Given the description of an element on the screen output the (x, y) to click on. 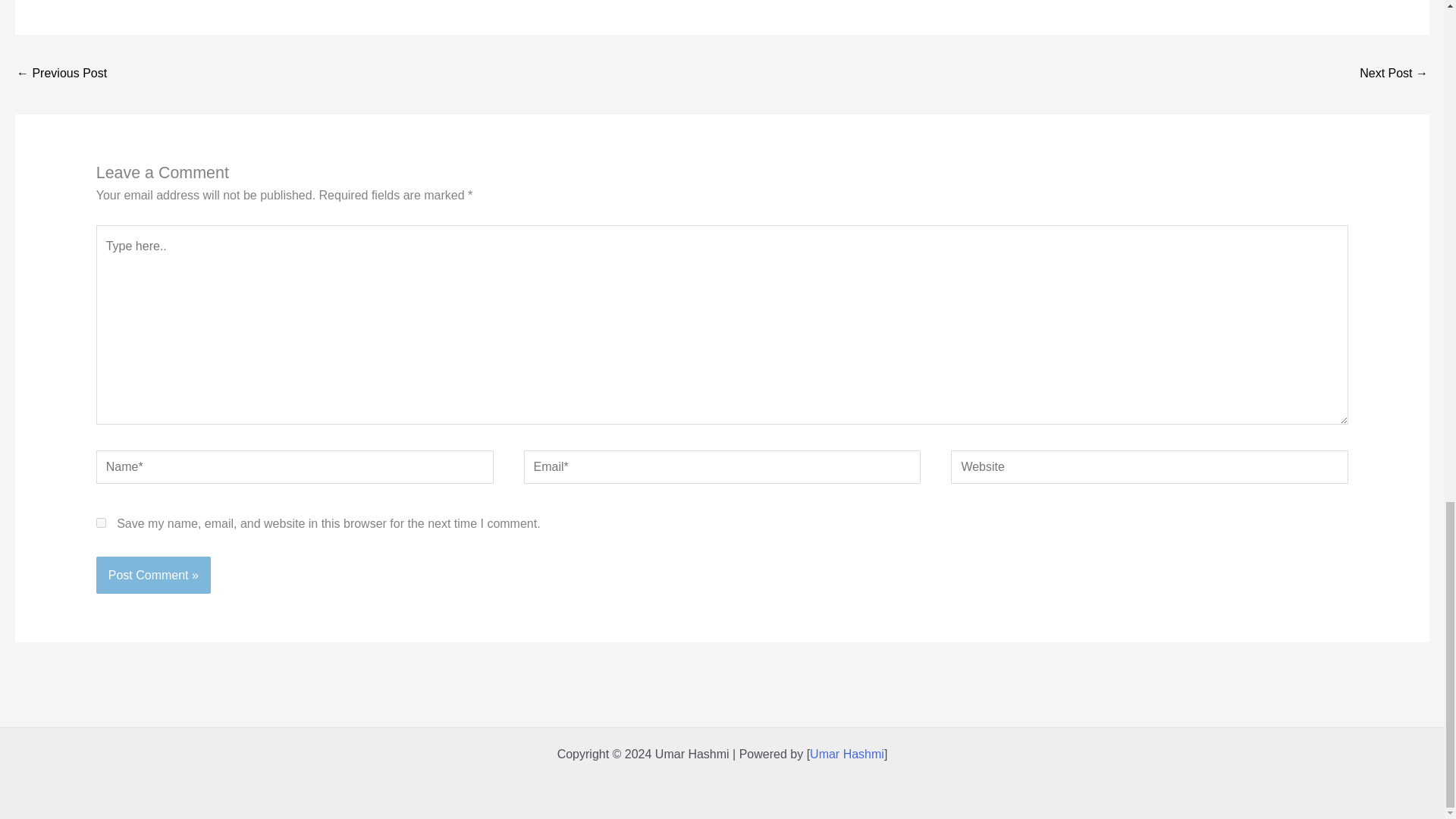
How to Choose the Best Write My Essay Paper Service (61, 74)
Umar Hashmi (846, 753)
yes (101, 522)
Writefull (1393, 74)
